Given the description of an element on the screen output the (x, y) to click on. 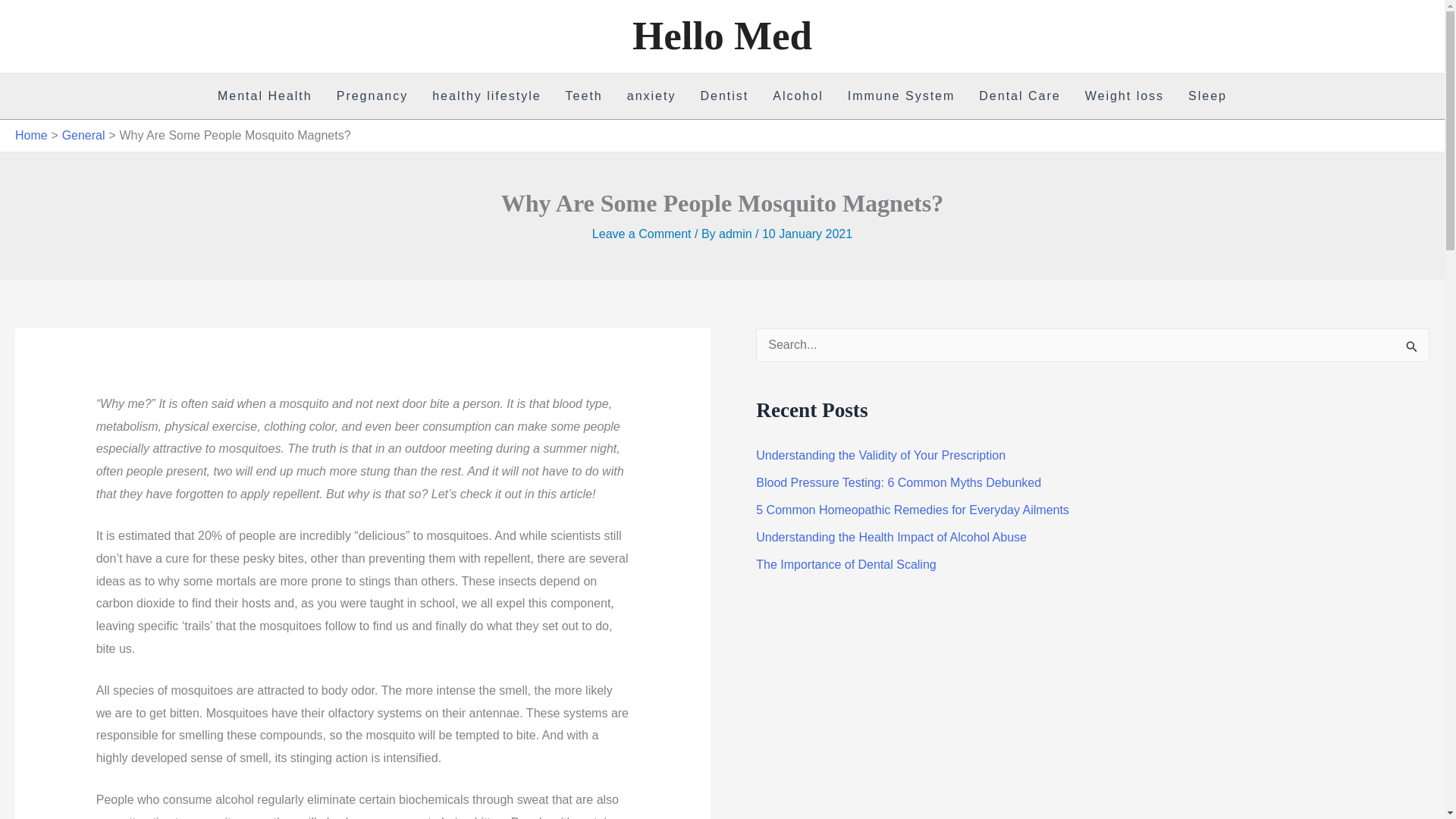
Understanding the Health Impact of Alcohol Abuse (890, 536)
Immune System (901, 96)
Blood Pressure Testing: 6 Common Myths Debunked (898, 481)
healthy lifestyle (486, 96)
5 Common Homeopathic Remedies for Everyday Ailments (911, 509)
Mental Health (264, 96)
Teeth (583, 96)
anxiety (651, 96)
Dentist (723, 96)
admin (737, 233)
View all posts by  (737, 233)
Dental Care (1018, 96)
Alcohol (797, 96)
Understanding the Validity of Your Prescription (880, 454)
Weight loss (1124, 96)
